Given the description of an element on the screen output the (x, y) to click on. 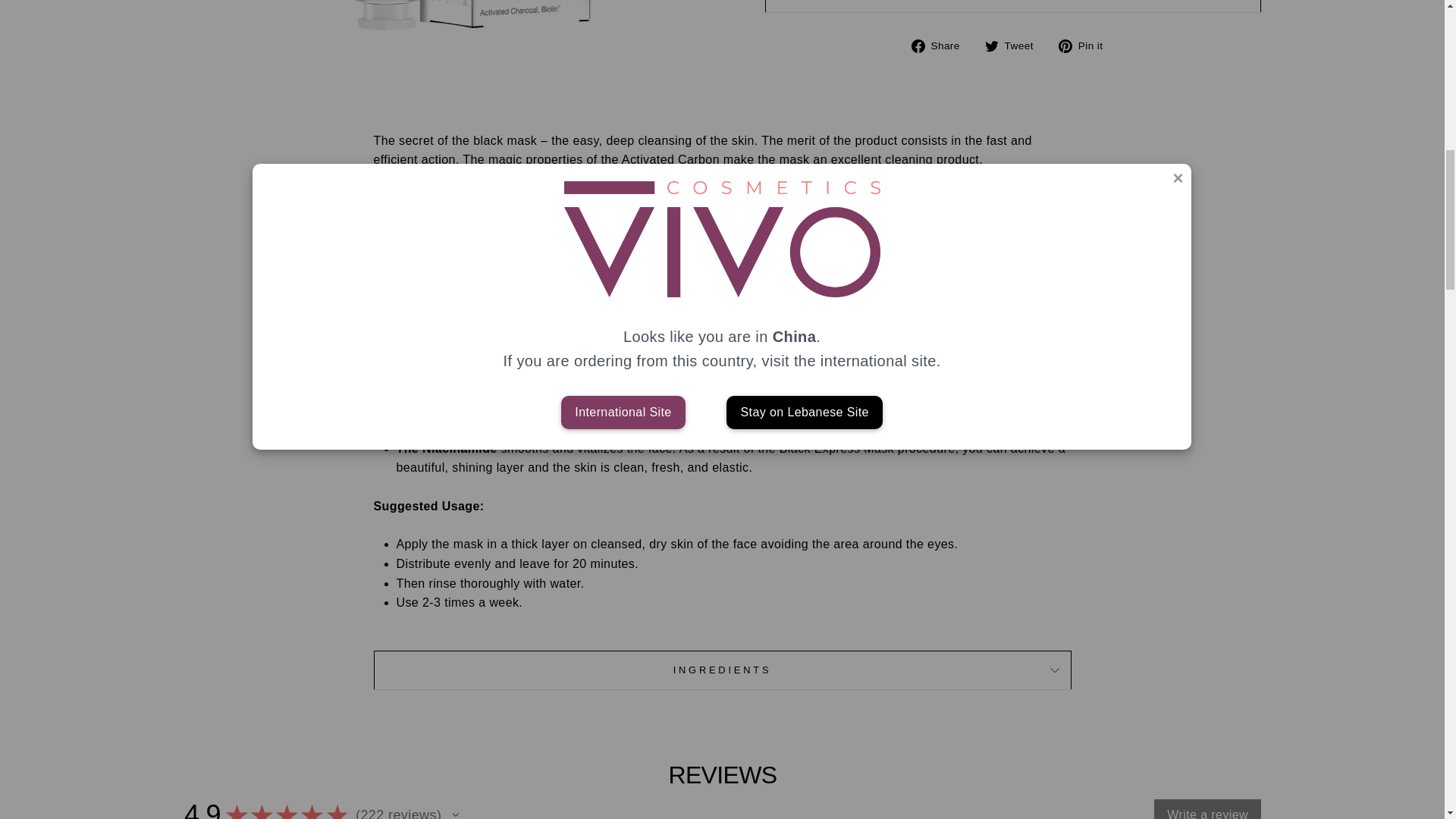
twitter (991, 46)
Share on Facebook (941, 45)
Tweet on Twitter (1015, 45)
Pin on Pinterest (1085, 45)
